Given the description of an element on the screen output the (x, y) to click on. 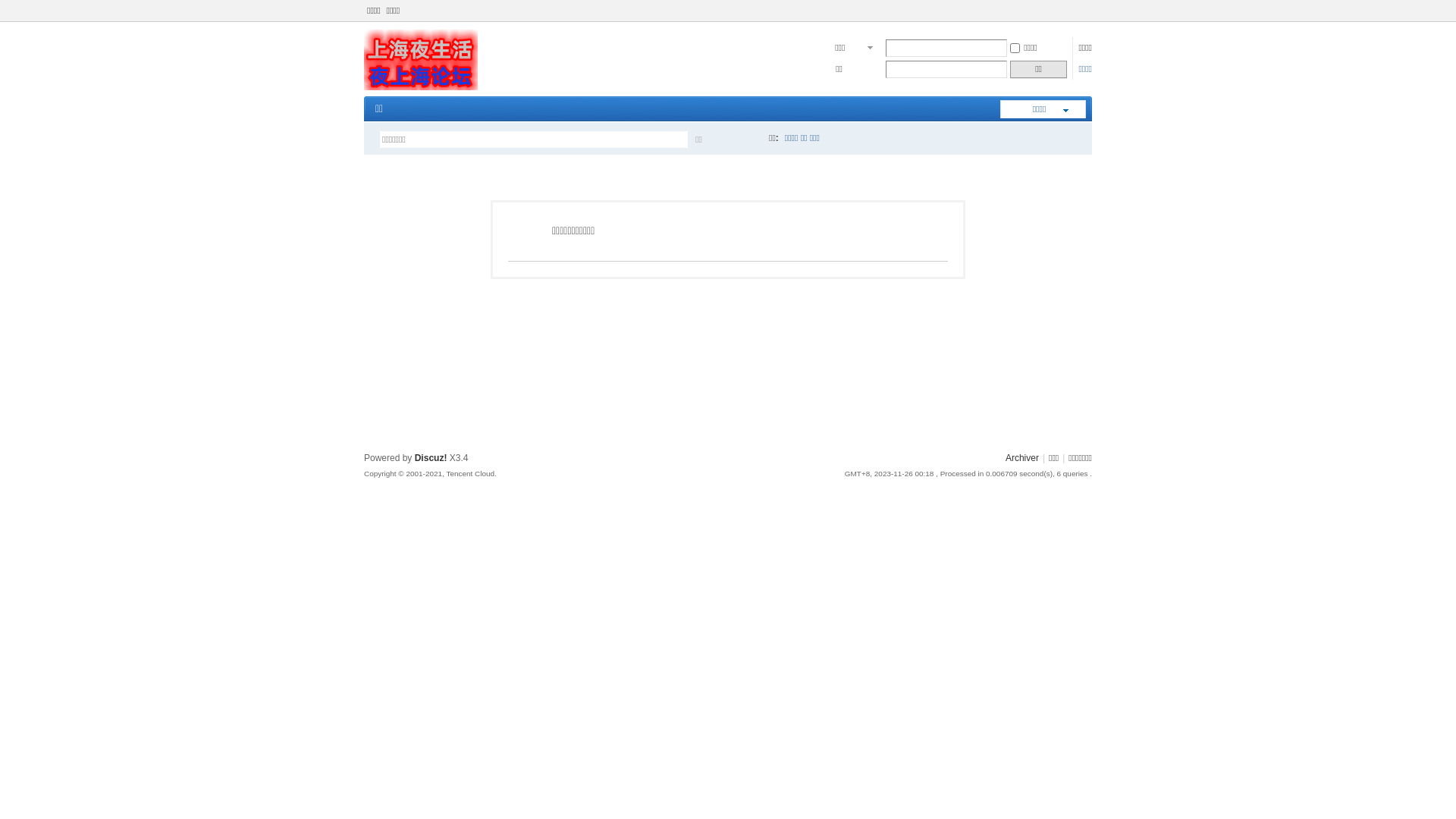
Discuz! Element type: text (430, 457)
Archiver Element type: text (1021, 457)
true Element type: text (745, 138)
